Given the description of an element on the screen output the (x, y) to click on. 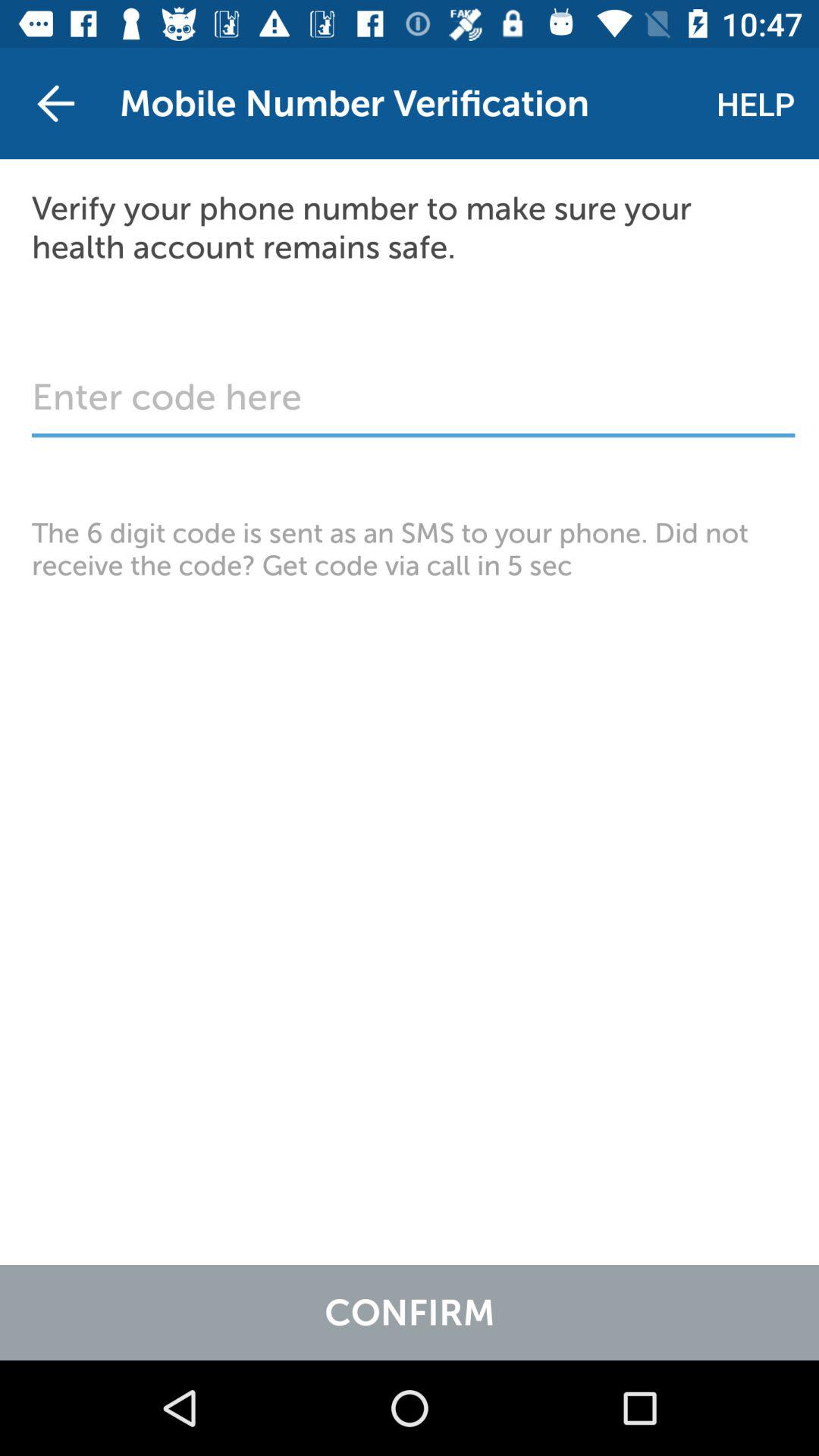
tap icon below the the 6 digit icon (409, 1312)
